Given the description of an element on the screen output the (x, y) to click on. 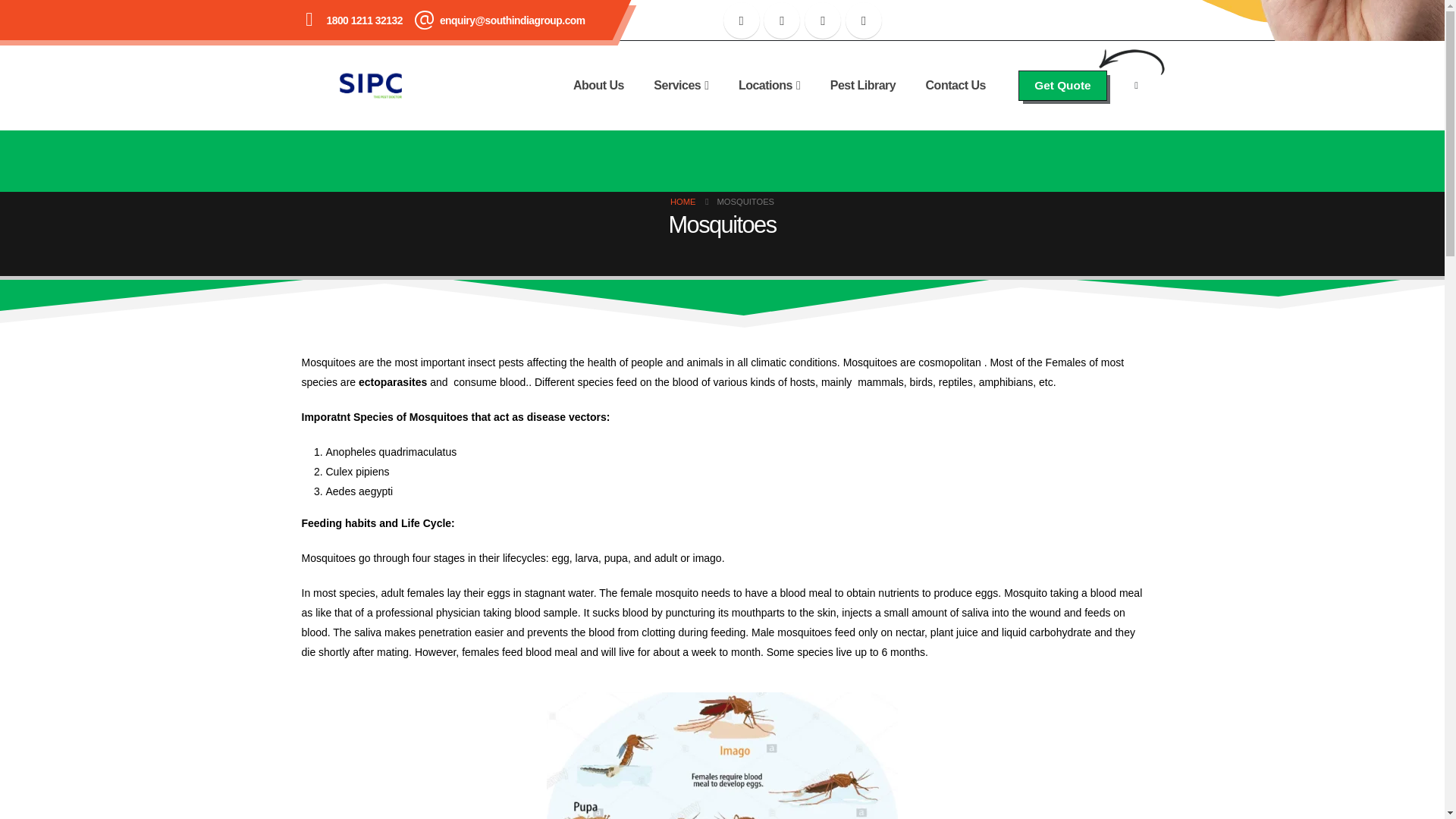
About Us (599, 84)
south India pest control (865, 626)
Go to Home Page (682, 201)
Services (681, 84)
1800 1211 32132 (363, 20)
Instagram (823, 19)
Twitter (780, 19)
LinkedIn (863, 19)
Locations (769, 84)
Facebook (741, 19)
SIPC -  (370, 85)
